Given the description of an element on the screen output the (x, y) to click on. 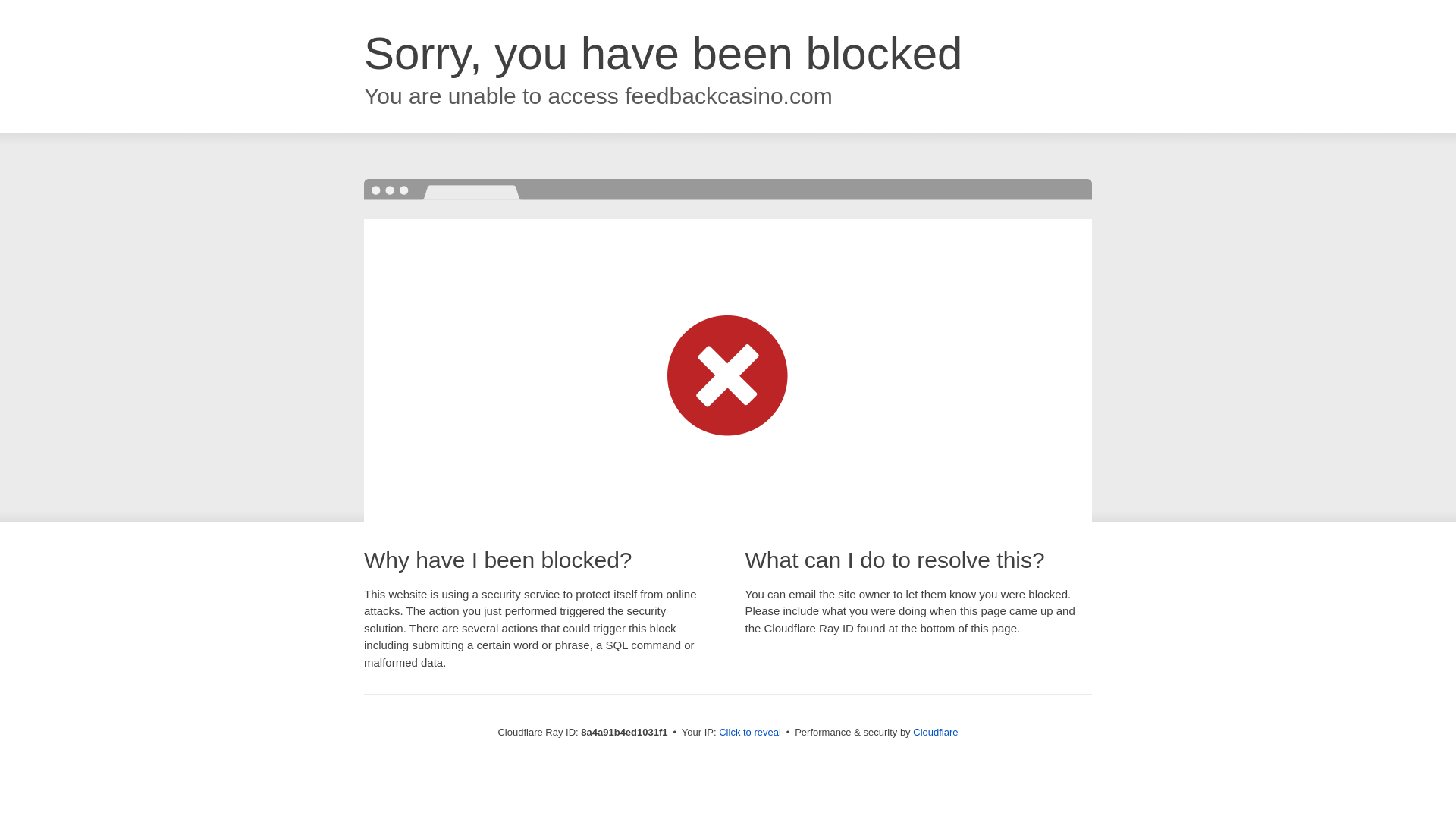
Click to reveal (749, 732)
Cloudflare (935, 731)
